Given the description of an element on the screen output the (x, y) to click on. 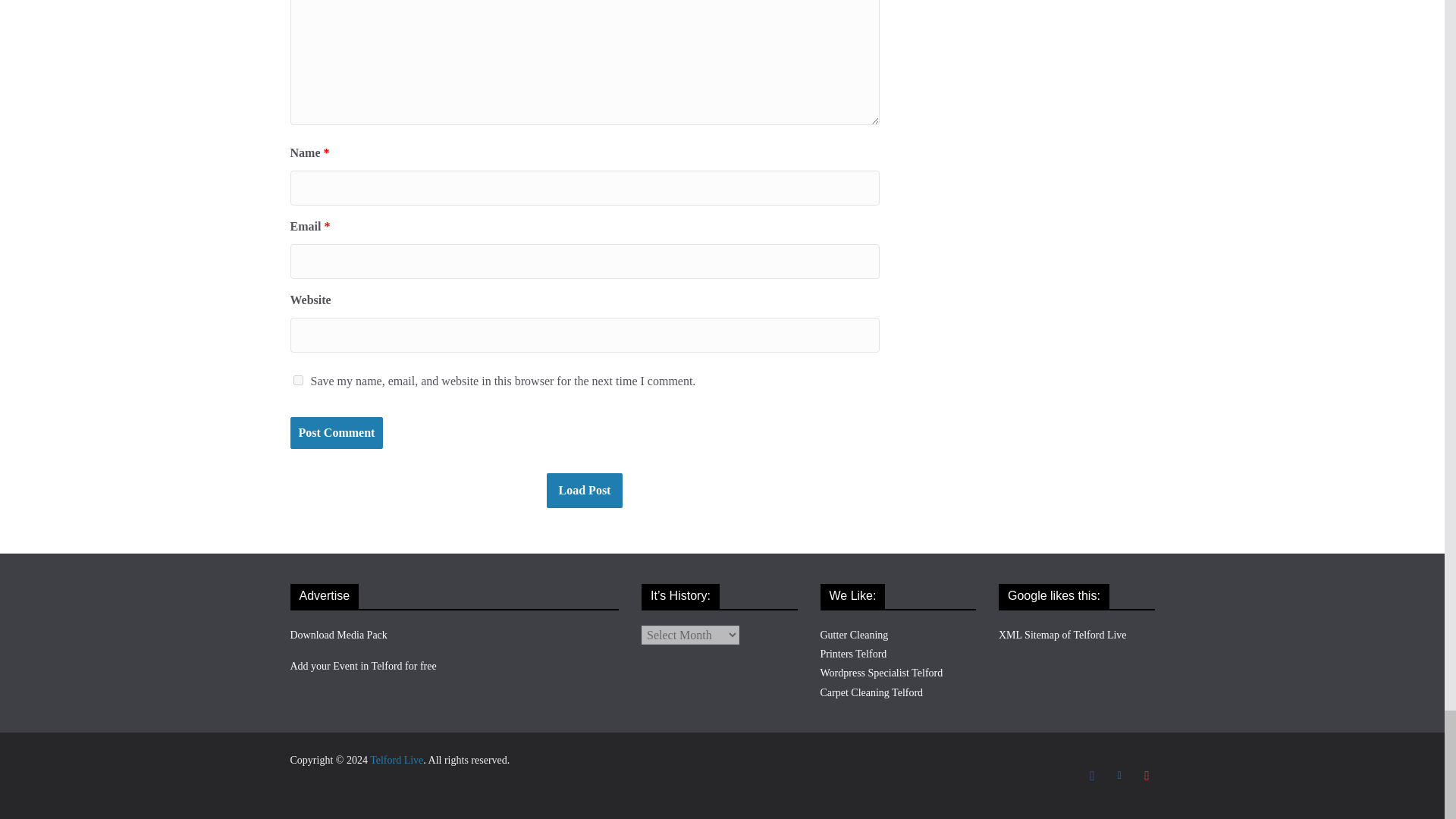
yes (297, 379)
Post Comment (335, 432)
Telford Live (396, 759)
